Given the description of an element on the screen output the (x, y) to click on. 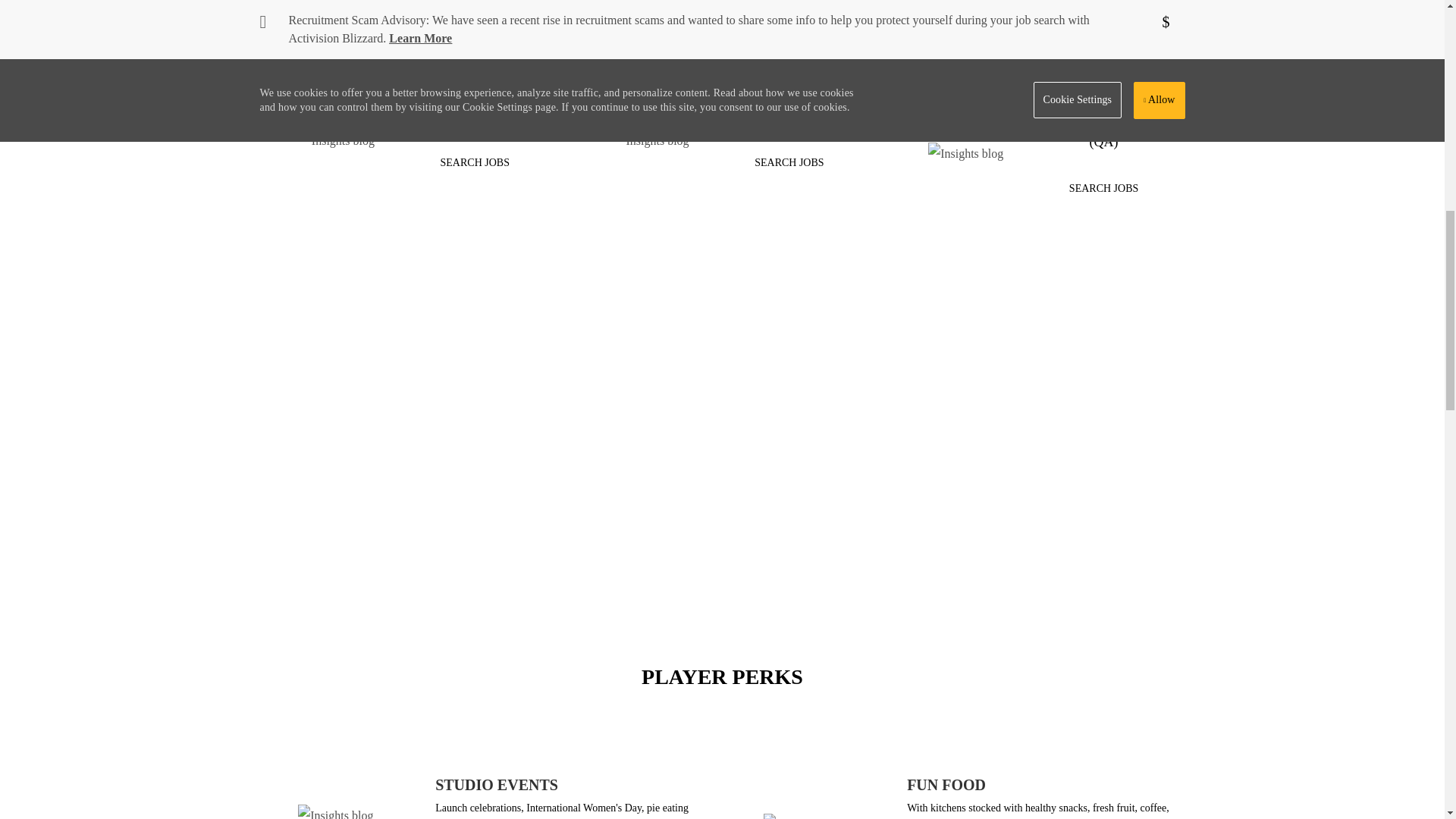
QA (1103, 188)
Activision (910, 515)
Audio (475, 162)
SEARCH JOBS (476, 18)
Design (789, 12)
SEARCH JOBS (1103, 188)
SEARCH JOBS (789, 162)
SEARCH JOBS (789, 12)
Engineering (1103, 12)
SEARCH JOBS (475, 162)
Production (789, 162)
SEARCH JOBS (1103, 12)
